Given the description of an element on the screen output the (x, y) to click on. 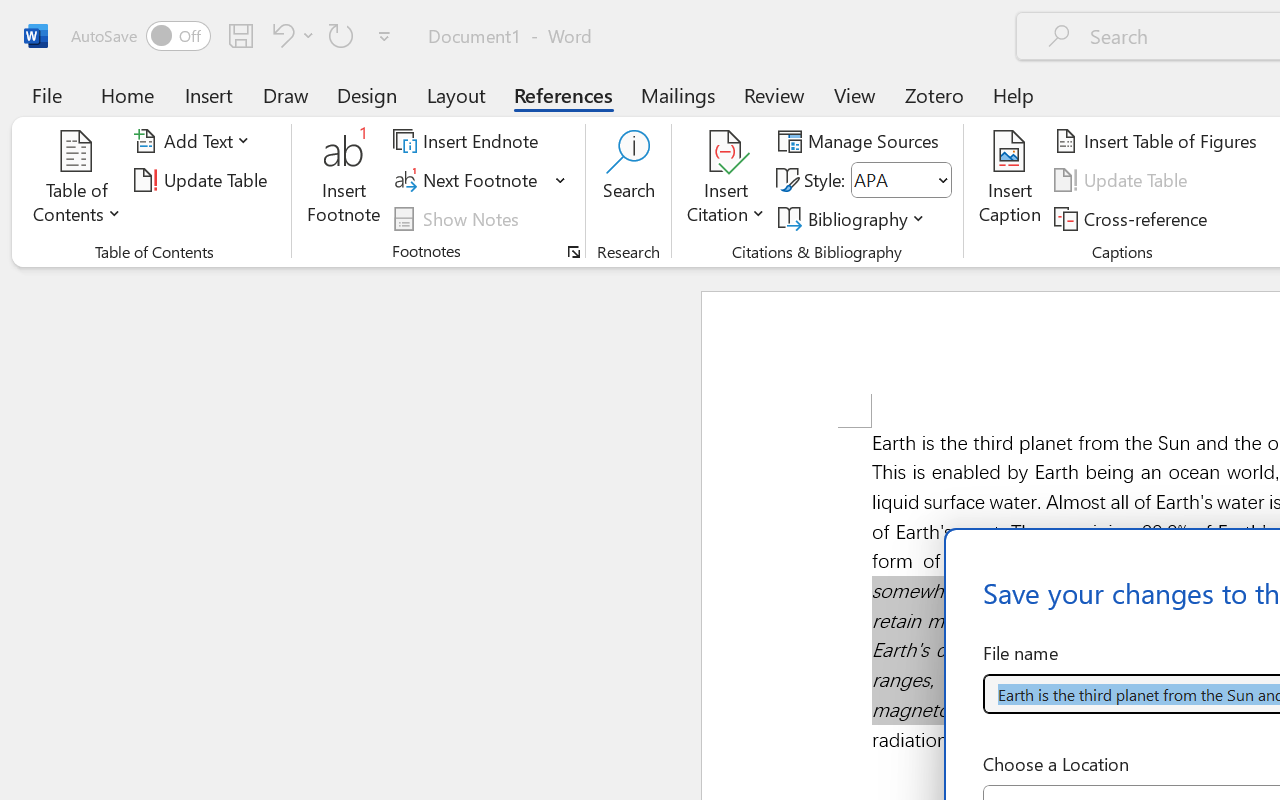
Insert Caption... (1009, 180)
Style (892, 179)
Undo Italic (290, 35)
Update Table (1124, 179)
Search (628, 179)
Open (942, 179)
Help (1013, 94)
Manage Sources... (861, 141)
